Given the description of an element on the screen output the (x, y) to click on. 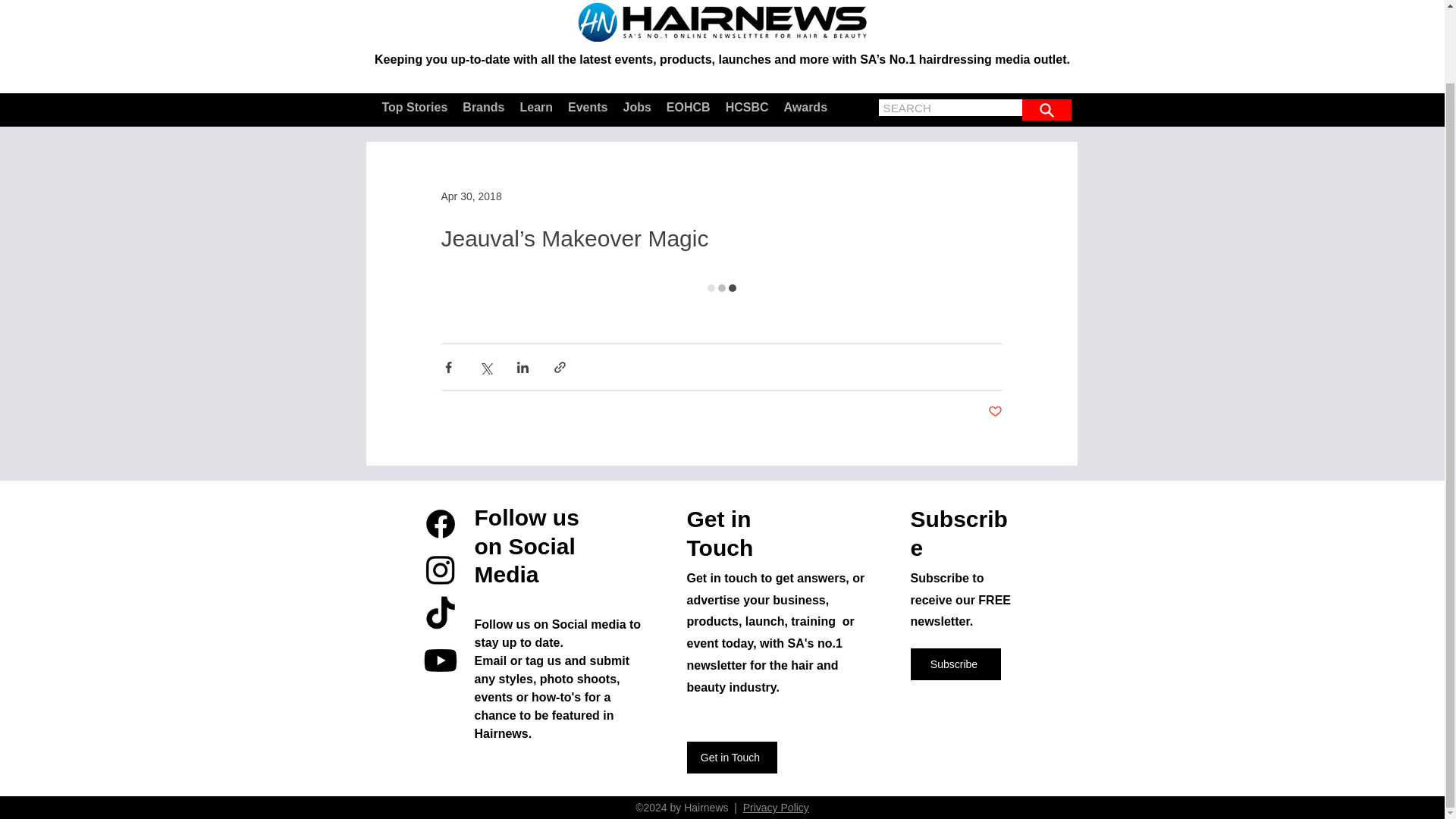
Jobs (637, 107)
HCSBC (746, 107)
EOHCB (688, 107)
Get in Touch (732, 757)
Top Stories (414, 107)
Apr 30, 2018 (471, 196)
Subscribe (955, 664)
Events (587, 107)
SEARCH (906, 107)
Post not marked as liked (994, 412)
